Given the description of an element on the screen output the (x, y) to click on. 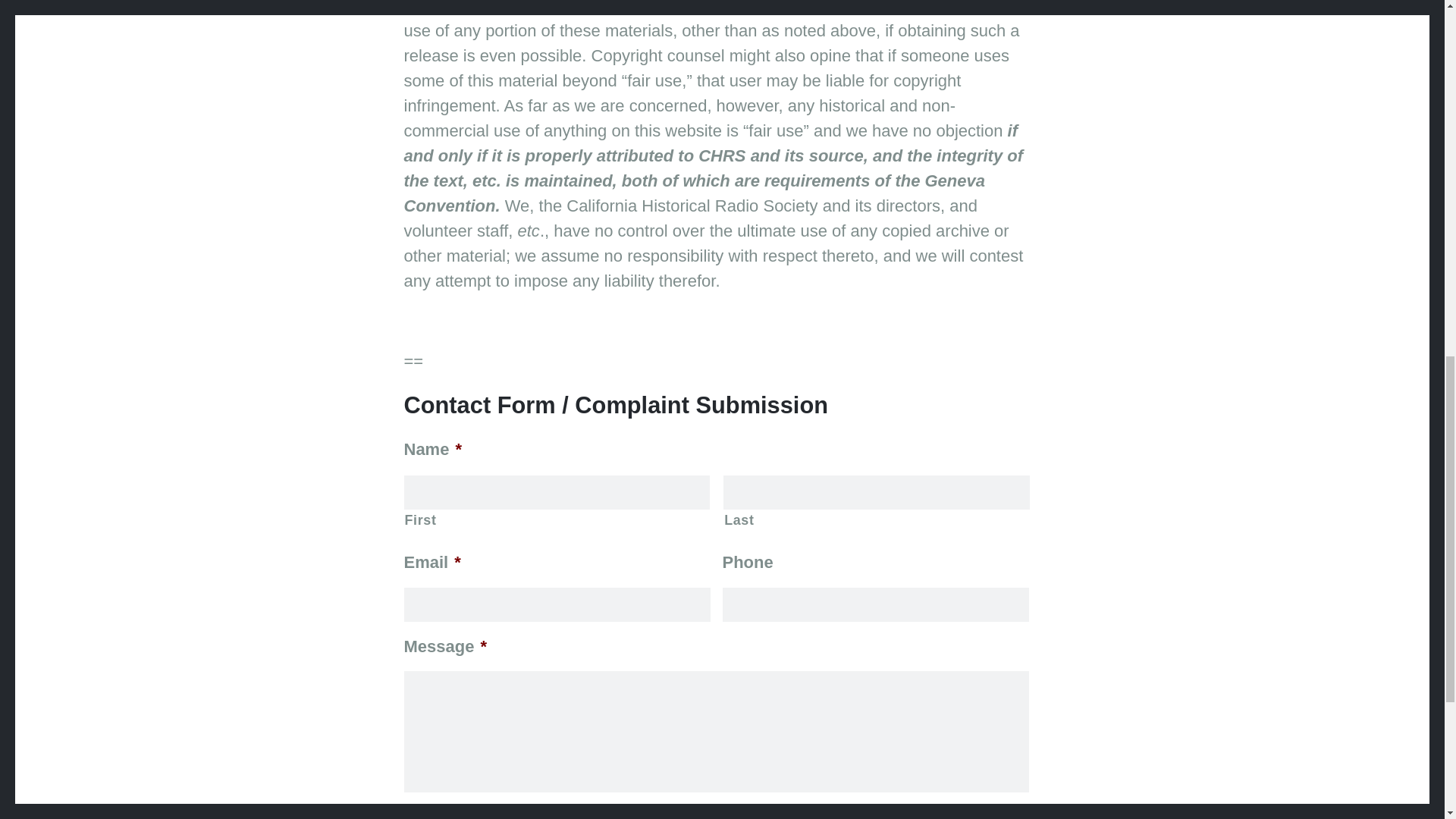
Submit (451, 817)
